Given the description of an element on the screen output the (x, y) to click on. 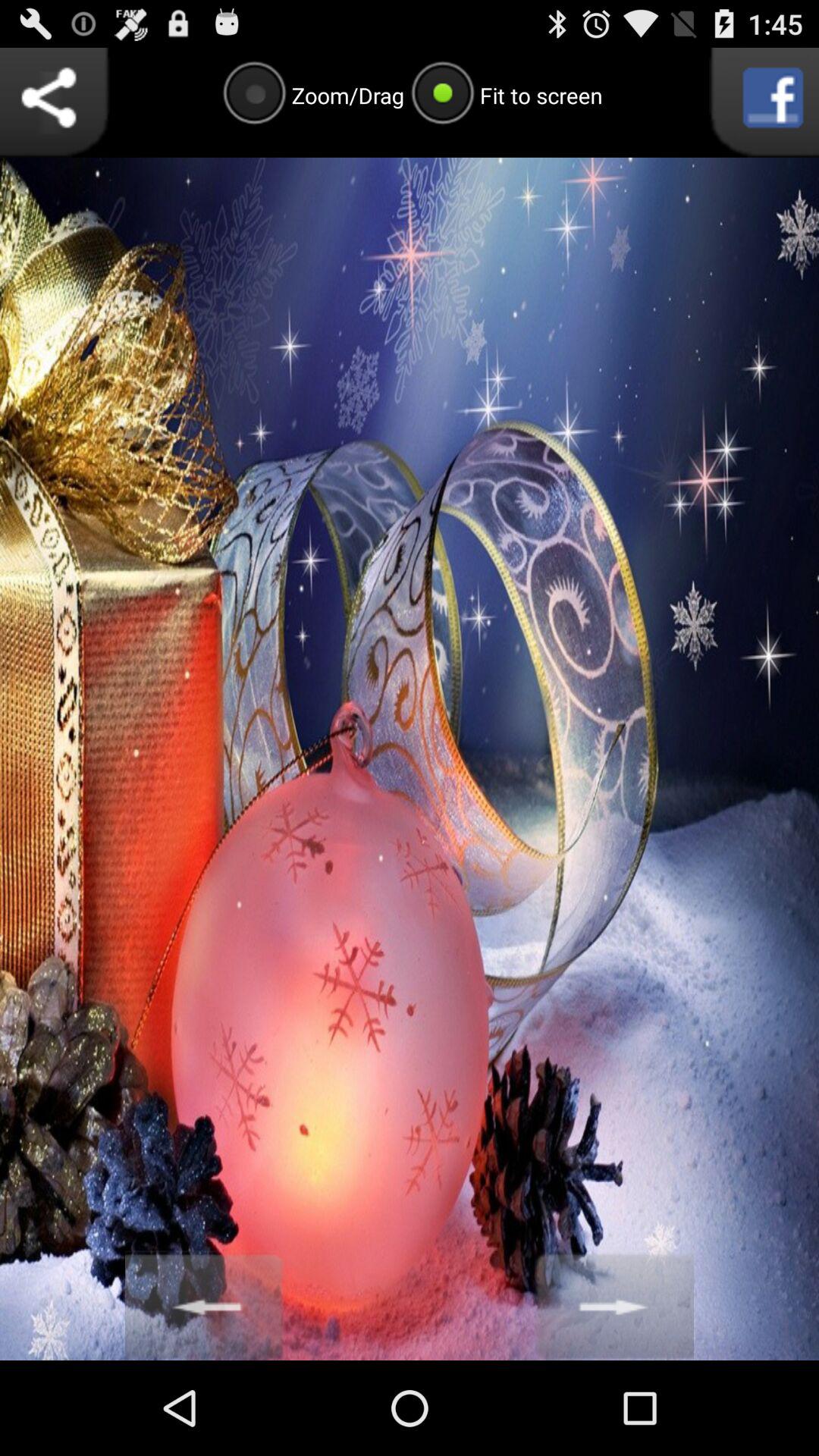
go to next (614, 1305)
